Given the description of an element on the screen output the (x, y) to click on. 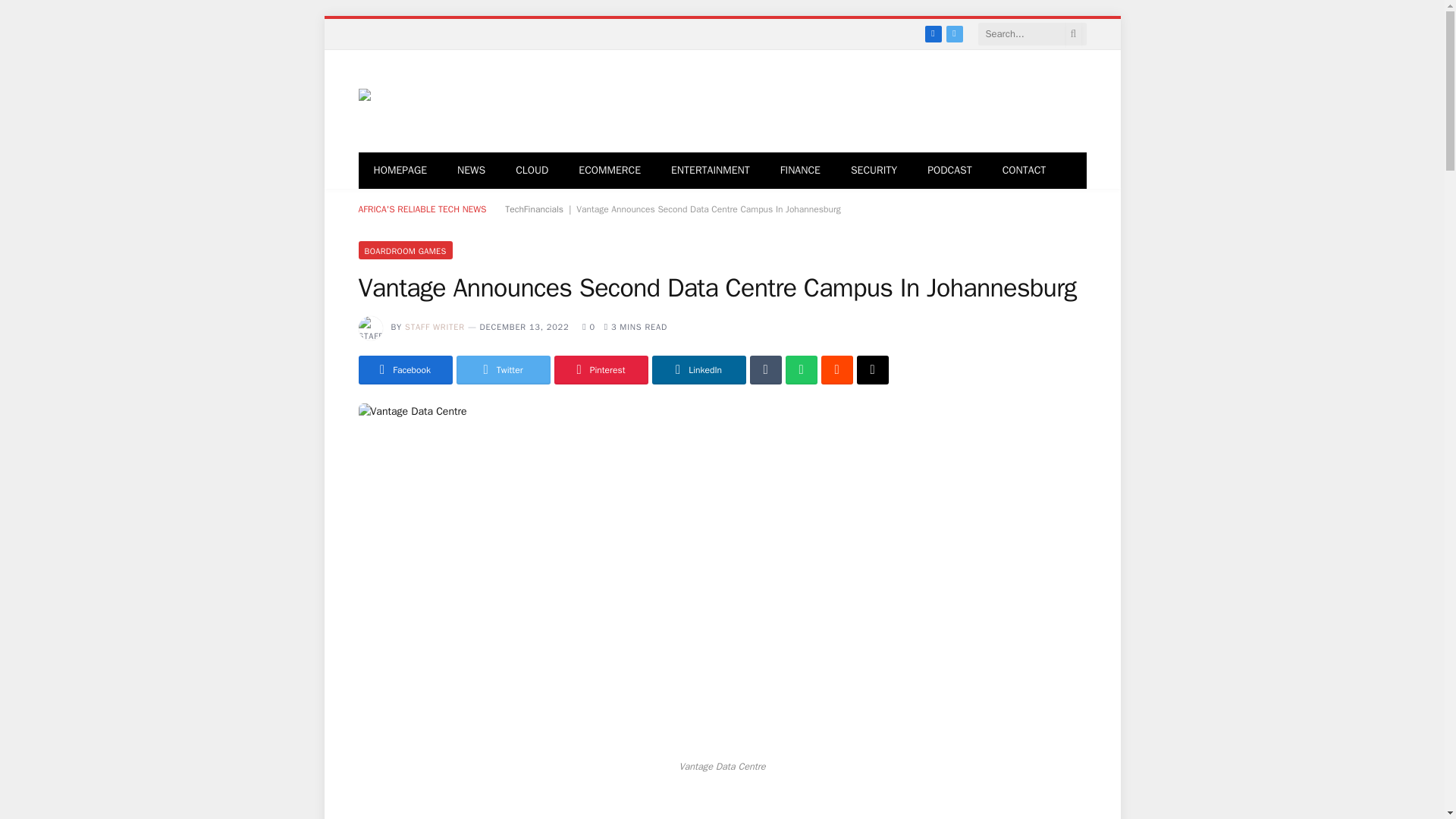
Posts by Staff Writer (434, 326)
SECURITY (873, 170)
ENTERTAINMENT (710, 170)
FINANCE (800, 170)
Share on Facebook (404, 369)
CLOUD (531, 170)
BOARDROOM GAMES (404, 249)
PODCAST (949, 170)
NEWS (471, 170)
CONTACT (1024, 170)
